Given the description of an element on the screen output the (x, y) to click on. 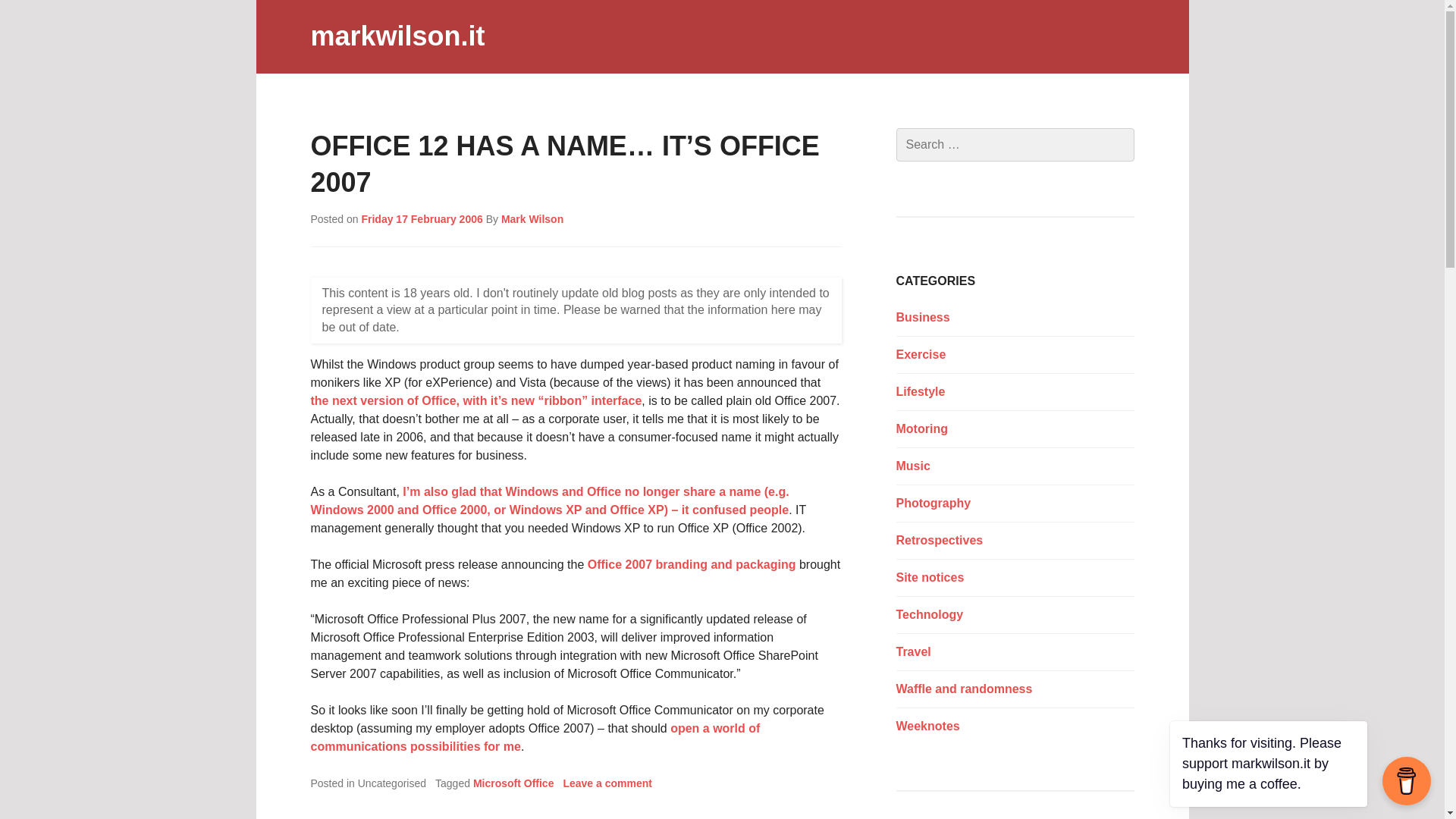
Exercise (921, 354)
Office 2007 branding and packaging (692, 563)
Mark Wilson (531, 218)
Friday 17 February 2006 (421, 218)
Leave a comment (607, 783)
Weeknotes (927, 725)
Microsoft Office (513, 783)
Waffle and randomness (964, 688)
Lifestyle (920, 391)
Retrospectives (940, 540)
open a world of communications possibilities for me (535, 736)
Business (923, 317)
markwilson.it (397, 35)
Travel (913, 651)
Photography (933, 502)
